Given the description of an element on the screen output the (x, y) to click on. 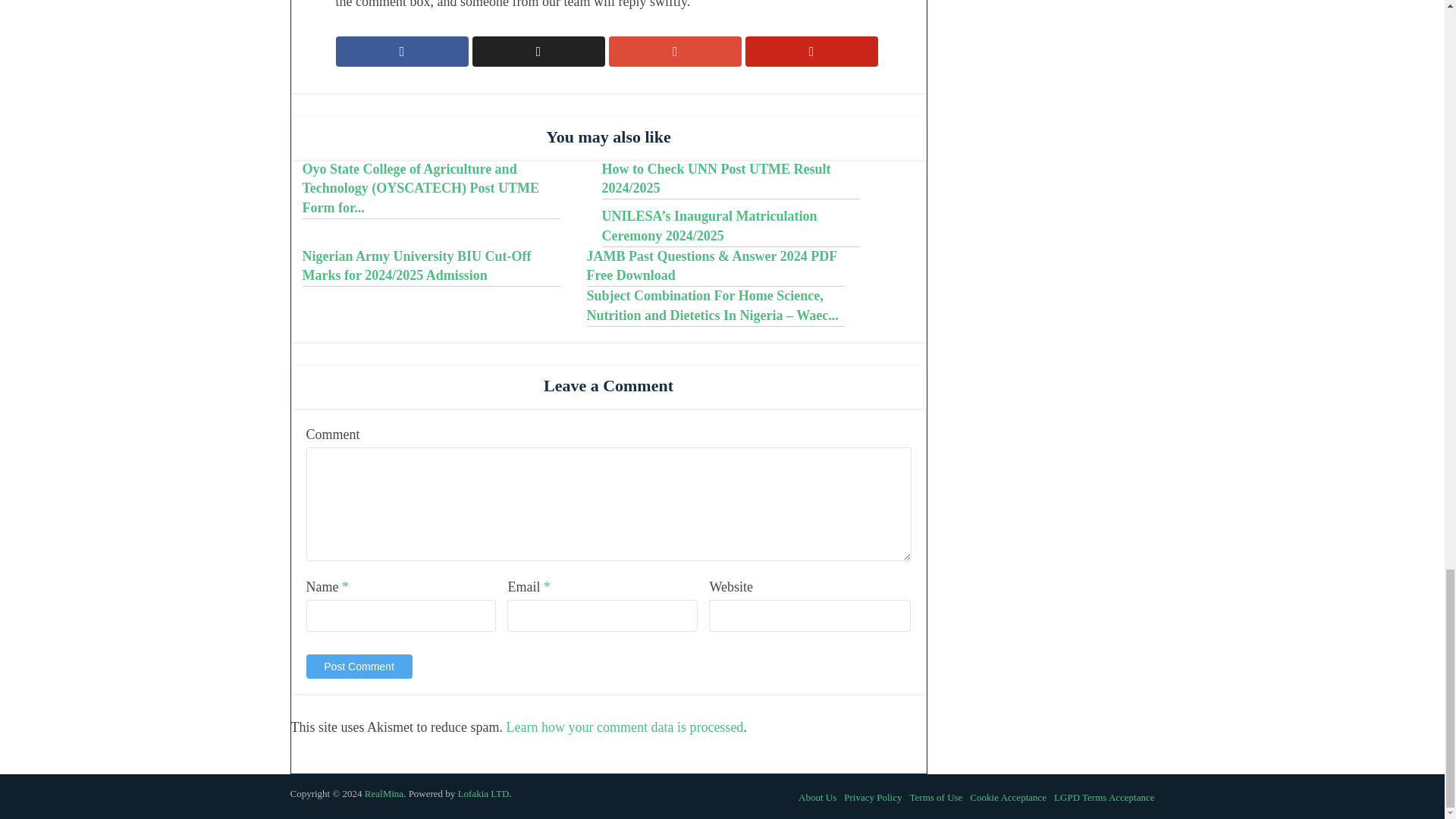
Post Comment (358, 666)
Post Comment (358, 666)
Learn how your comment data is processed (623, 726)
